Given the description of an element on the screen output the (x, y) to click on. 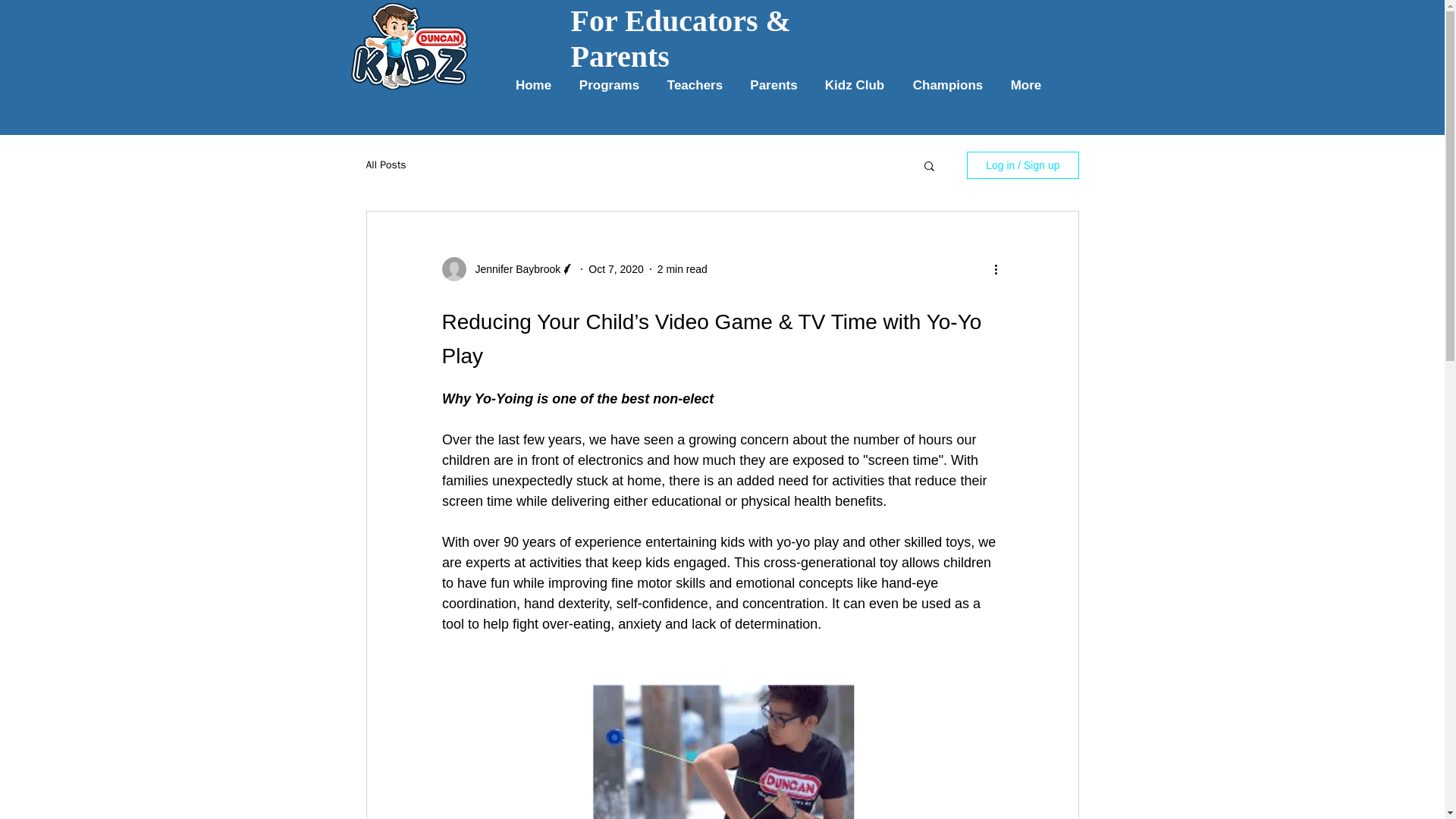
Home (534, 85)
Kidz Club (854, 85)
Champions (947, 85)
Jennifer Baybrook (512, 268)
Parents (773, 85)
Teachers (694, 85)
Programs (609, 85)
2 min read (682, 268)
Oct 7, 2020 (615, 268)
All Posts (385, 164)
